Given the description of an element on the screen output the (x, y) to click on. 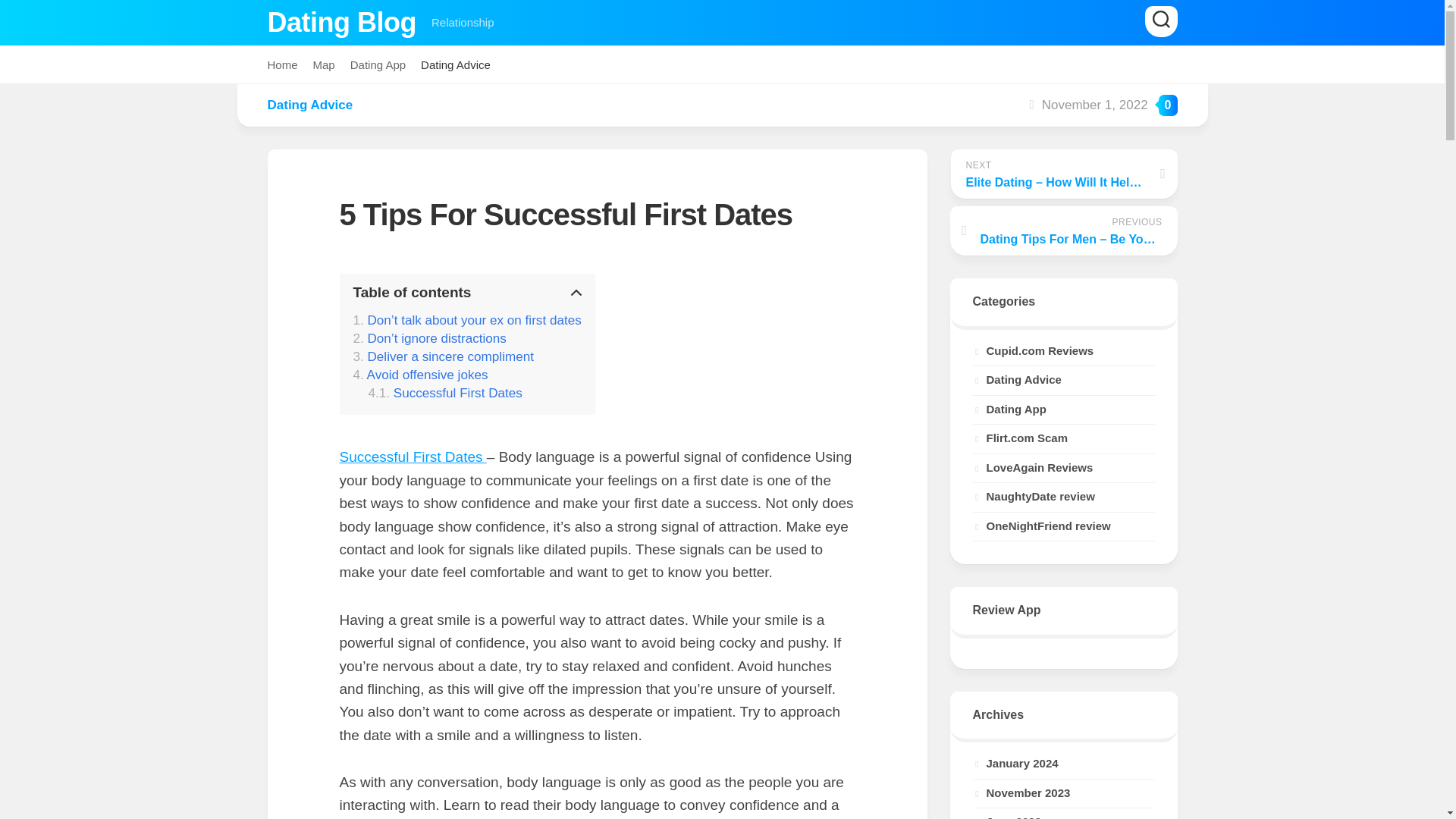
Successful First Dates (445, 393)
November 2023 (1021, 791)
NaughtyDate review (1033, 495)
Dating App (378, 64)
Flirt.com Scam (1019, 437)
Map (323, 64)
January 2024 (1015, 762)
Successful First Dates (445, 393)
OneNightFriend review (1040, 524)
Deliver a sincere compliment (443, 356)
